Given the description of an element on the screen output the (x, y) to click on. 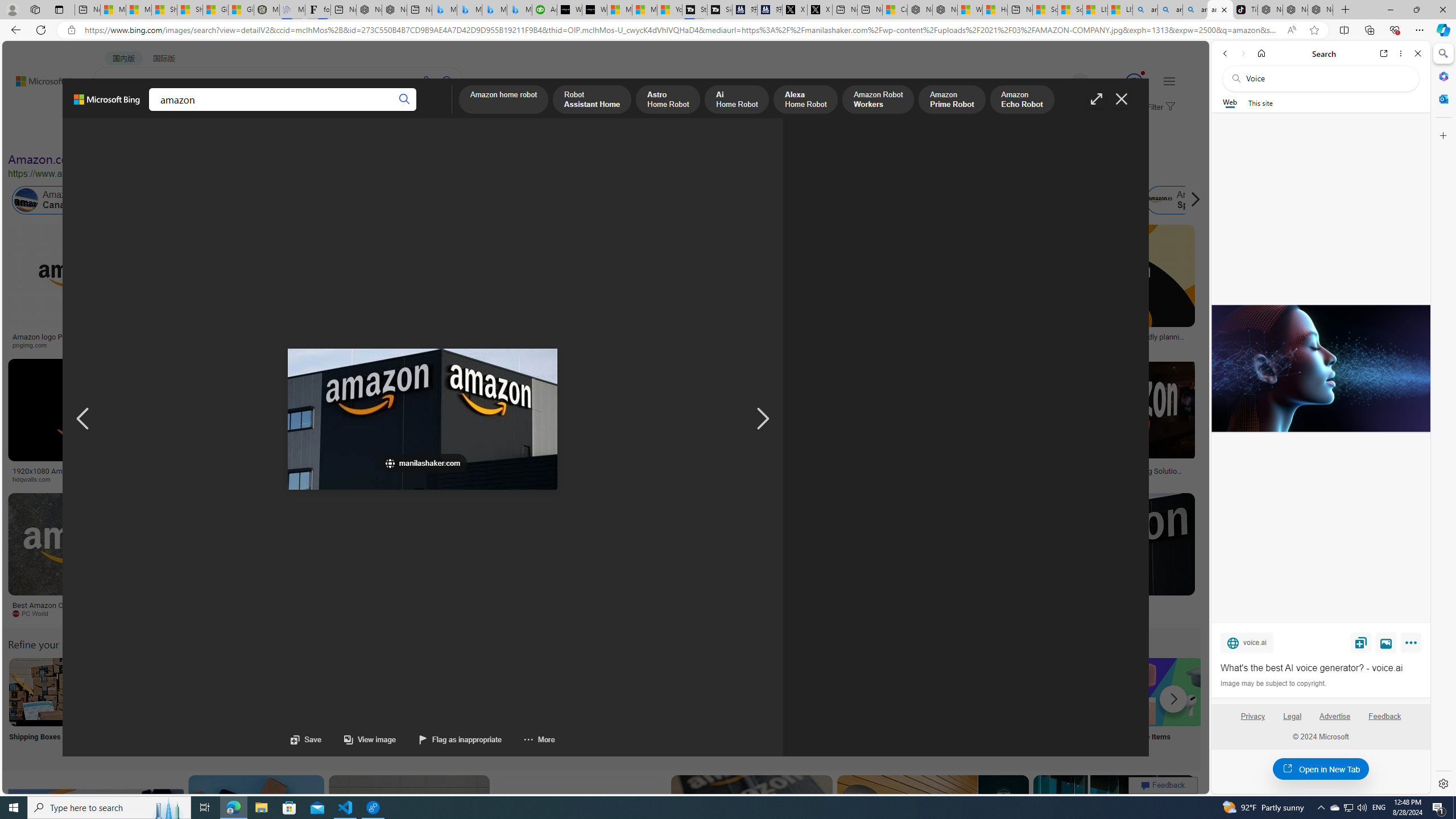
theverge.com (1118, 344)
3d illustration of amazon logo 18779928 PNG (939, 474)
Amazon Shoes (1103, 199)
Amazon Prime Label Prime Label (1018, 706)
Amazon Log into My Account Log into My Account (268, 706)
Amazon Clip Art (192, 691)
Dallas Morning News (749, 479)
Amazon Canada Online (25, 200)
Class: b_pri_nav_svg (191, 112)
